Given the description of an element on the screen output the (x, y) to click on. 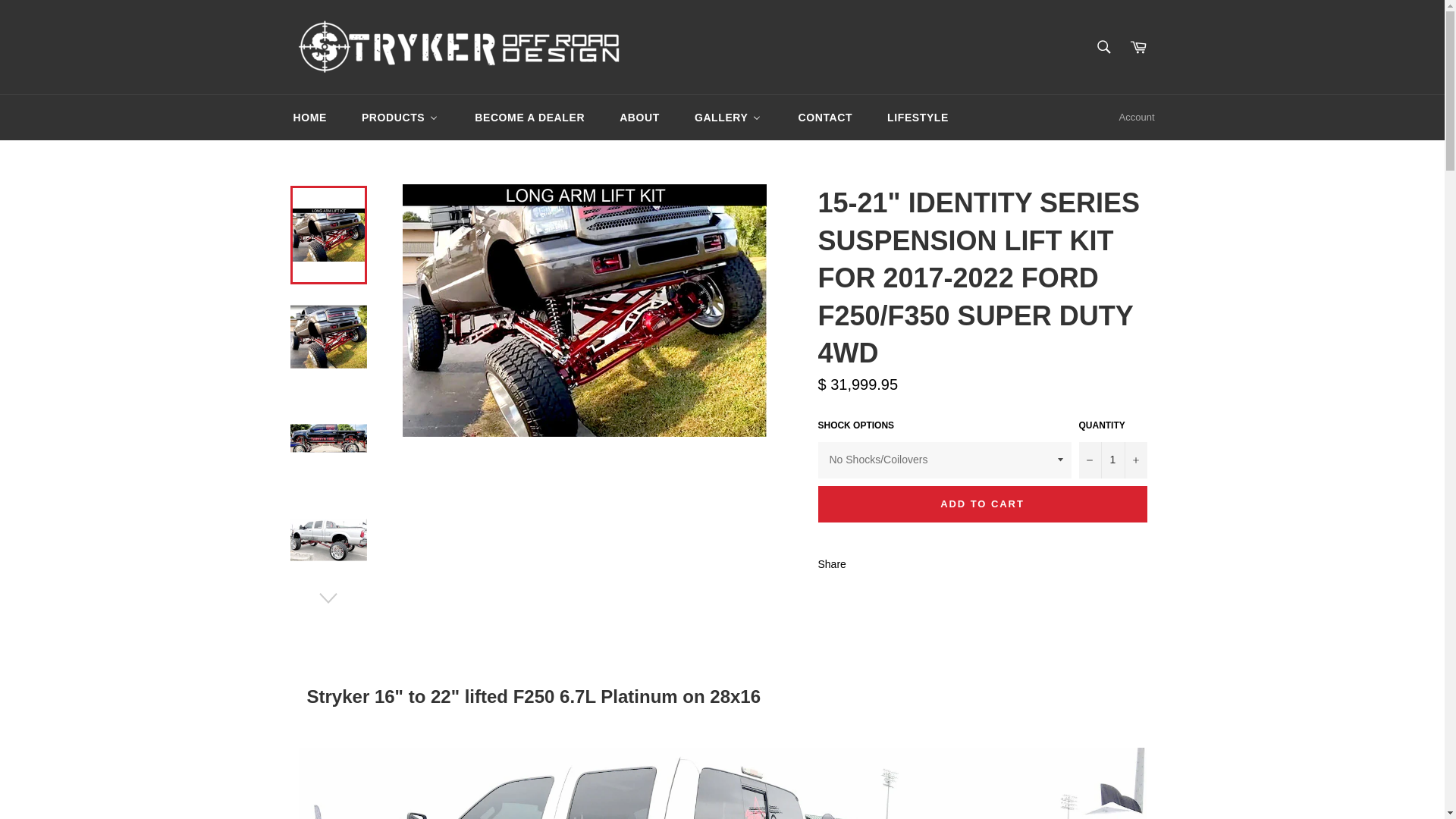
1 (1112, 460)
GALLERY (728, 117)
Search (1103, 47)
HOME (308, 117)
Cart (1138, 47)
BECOME A DEALER (529, 117)
PRODUCTS (400, 117)
ABOUT (639, 117)
